Given the description of an element on the screen output the (x, y) to click on. 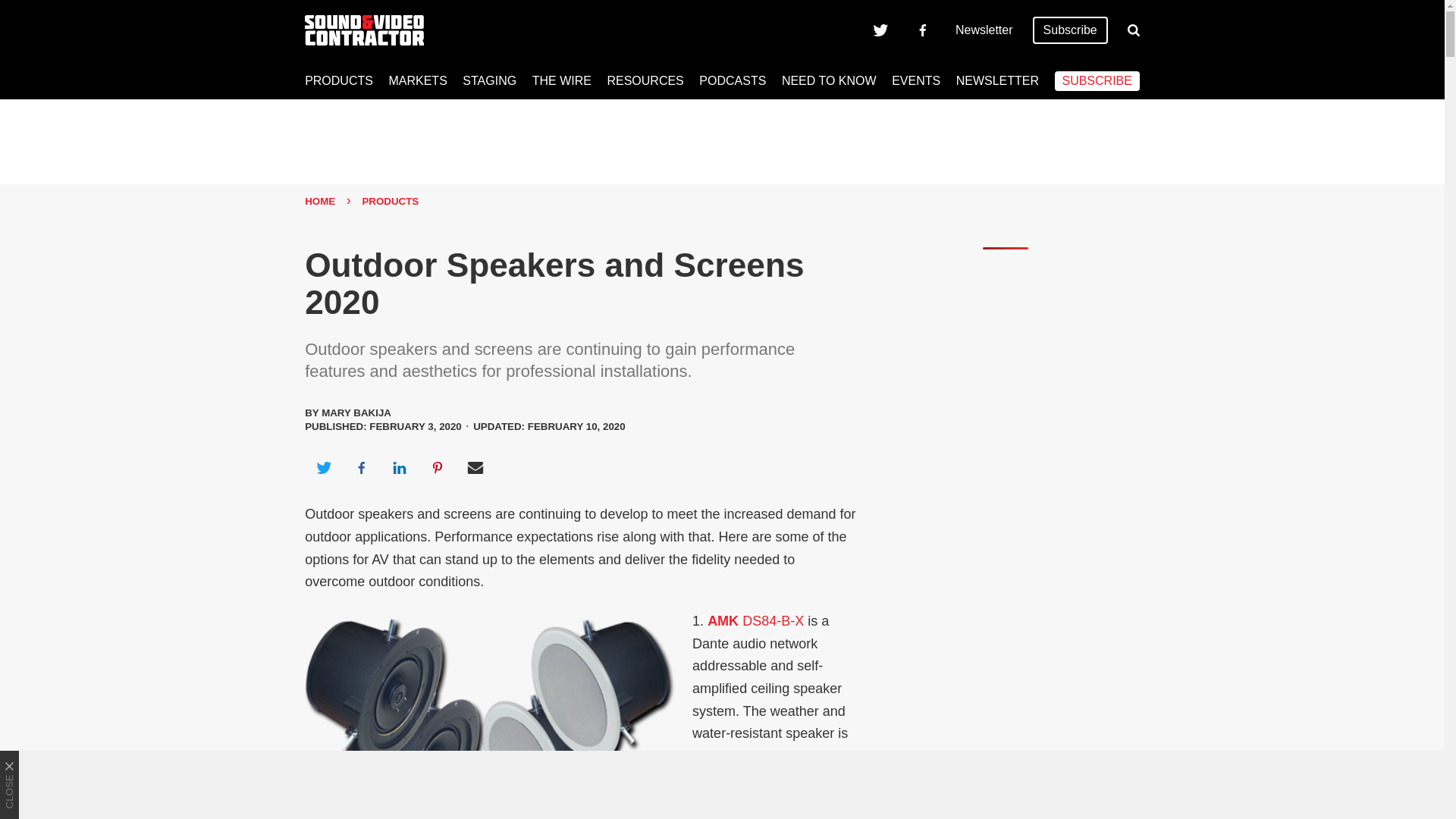
Share on LinkedIn (399, 467)
Share on Facebook (361, 467)
Share on Pinterest (438, 467)
Share on Twitter (323, 467)
Share via Email (476, 467)
